Given the description of an element on the screen output the (x, y) to click on. 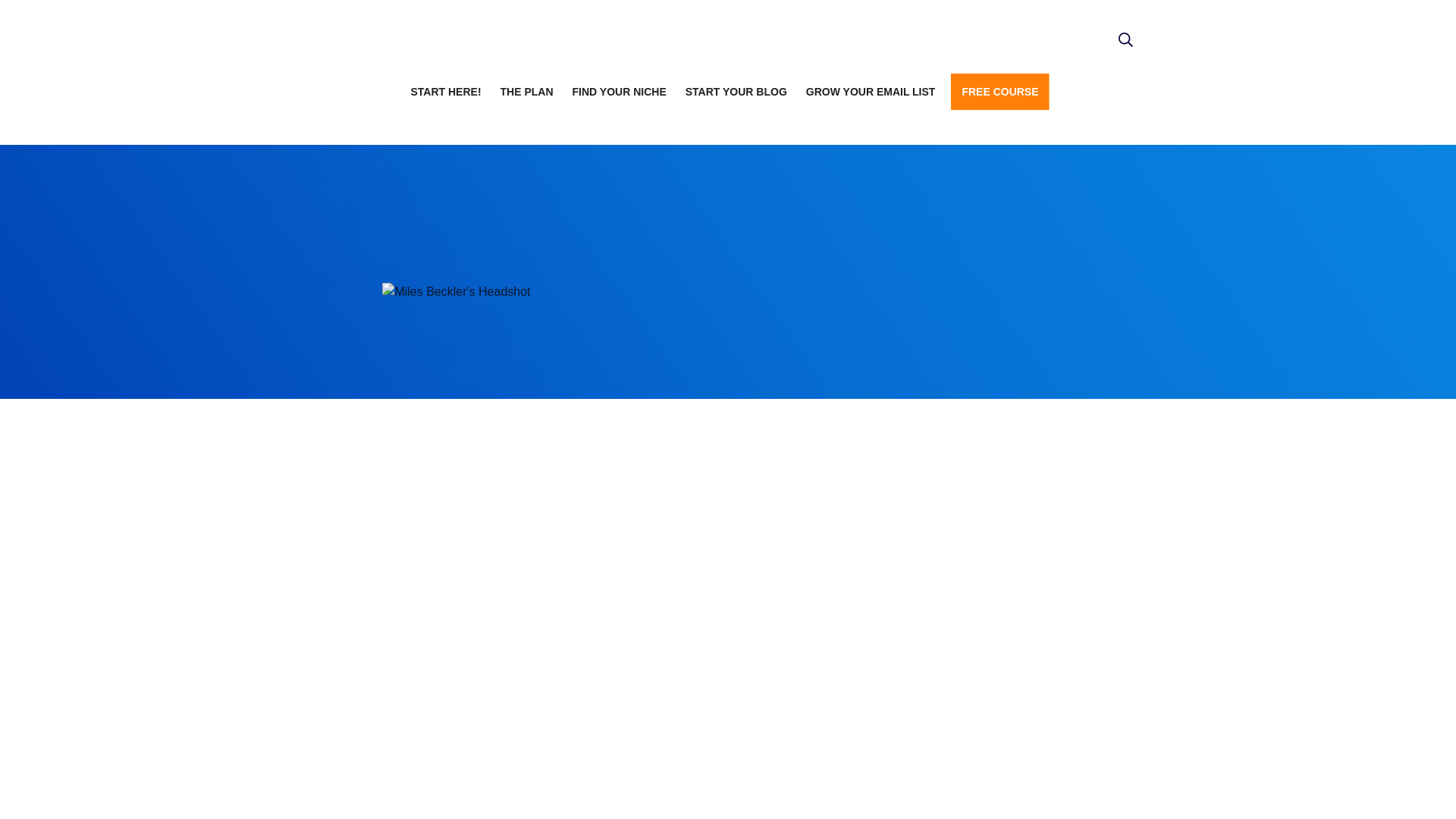
THE PLAN (526, 91)
START HERE! (445, 91)
FREE COURSE (999, 91)
GROW YOUR EMAIL LIST (871, 91)
START YOUR BLOG (736, 91)
Miles Beckler's Headshot (456, 292)
FIND YOUR NICHE (619, 91)
